Given the description of an element on the screen output the (x, y) to click on. 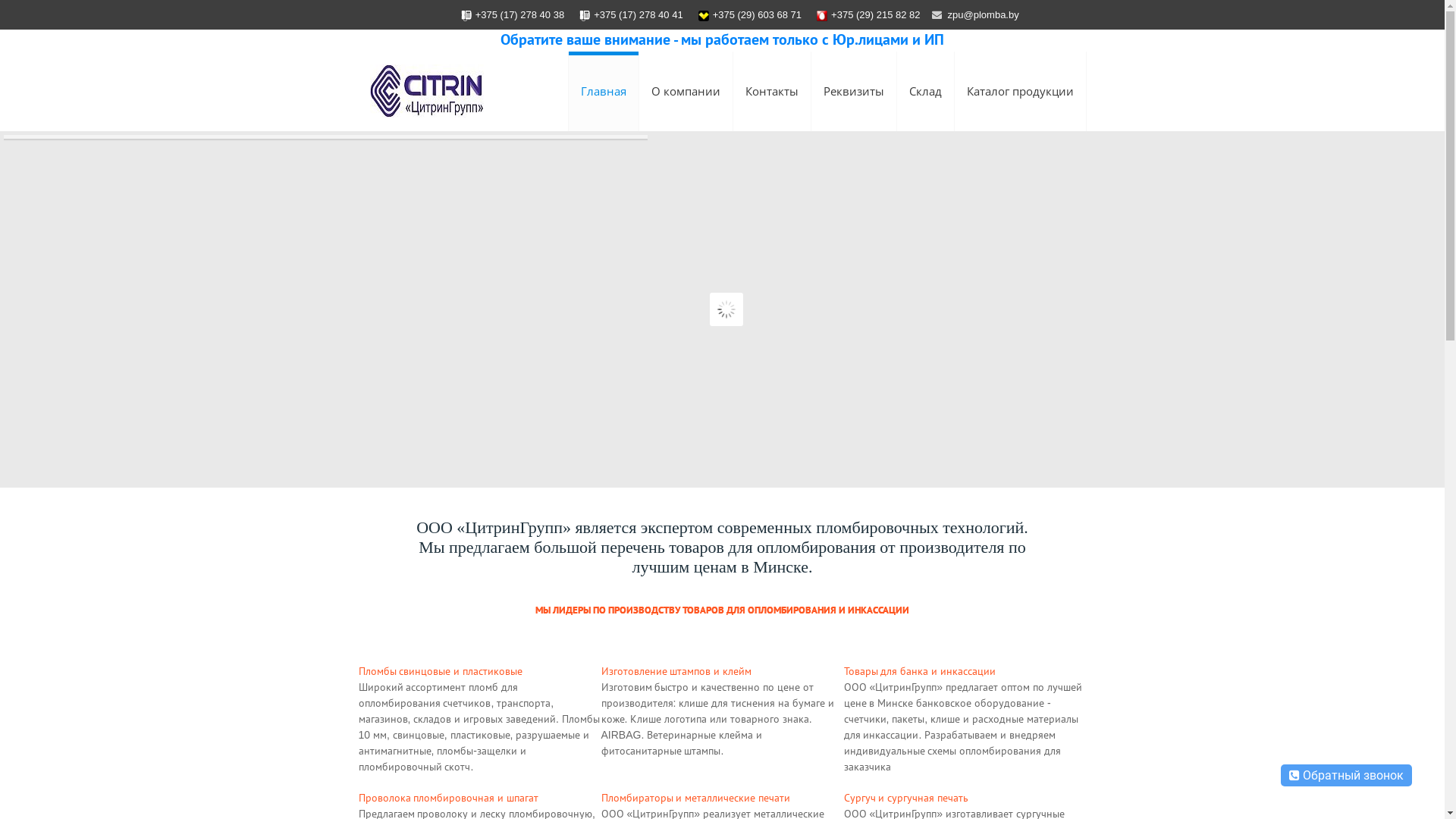
zpu@plomba.by Element type: text (983, 14)
+375 (17) 278 40 41 Element type: text (637, 14)
+375 (17) 278 40 38 Element type: text (519, 14)
+375 (29) 603 68 71 Element type: text (756, 14)
WWW.CITRIN.BY Element type: hover (425, 91)
+375 (29) 215 82 82 Element type: text (875, 14)
